Given the description of an element on the screen output the (x, y) to click on. 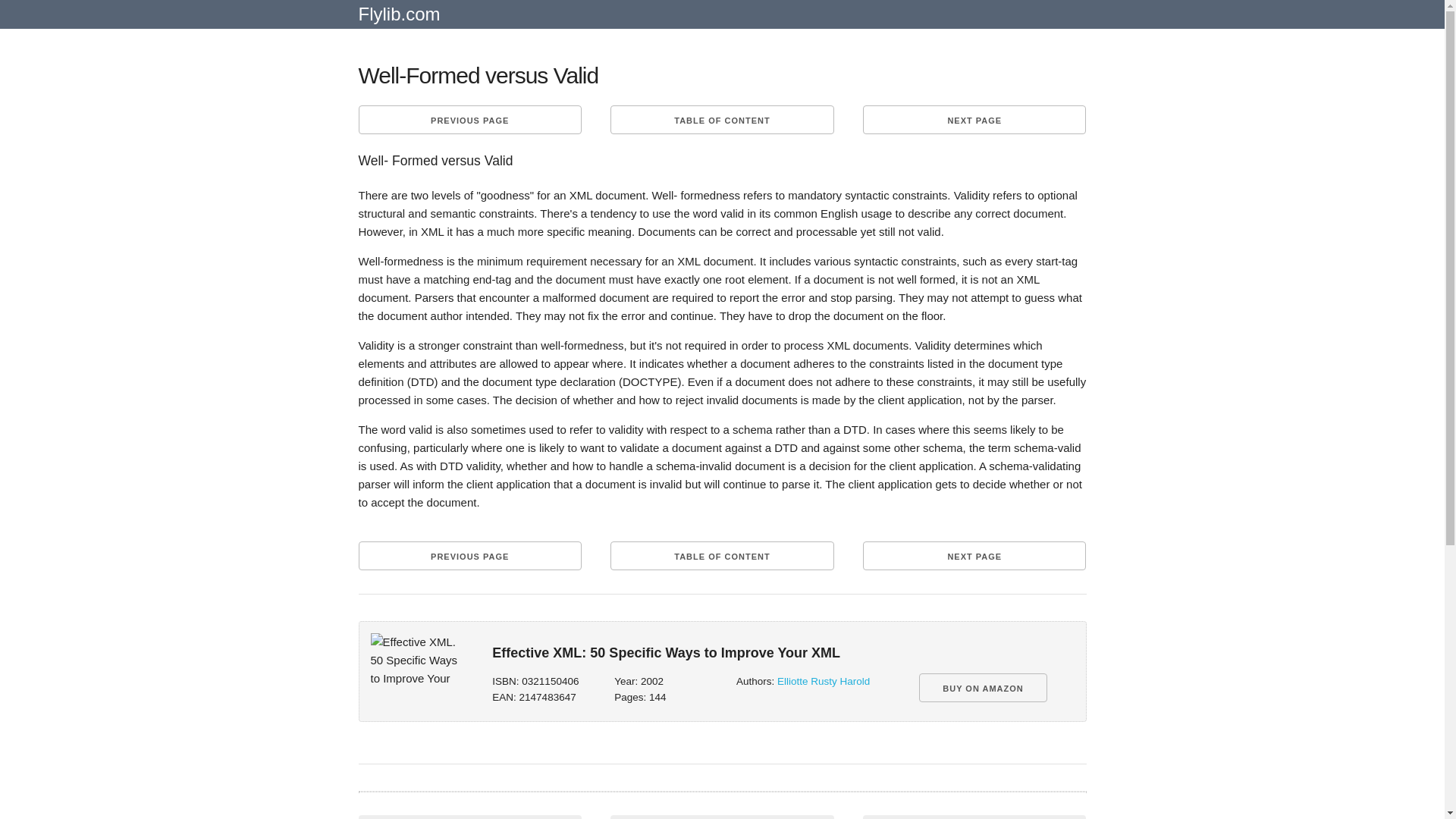
BUY ON AMAZON (982, 687)
Effective XML. 50 Specific Ways to Improve Your XML (416, 661)
TABLE OF CONTENT (721, 555)
PREVIOUS PAGE (469, 119)
NEXT PAGE (974, 119)
PREVIOUS PAGE (469, 555)
TABLE OF CONTENT (721, 119)
NEXT PAGE (974, 555)
Flylib.com (398, 19)
Elliotte Rusty Harold (823, 681)
